Given the description of an element on the screen output the (x, y) to click on. 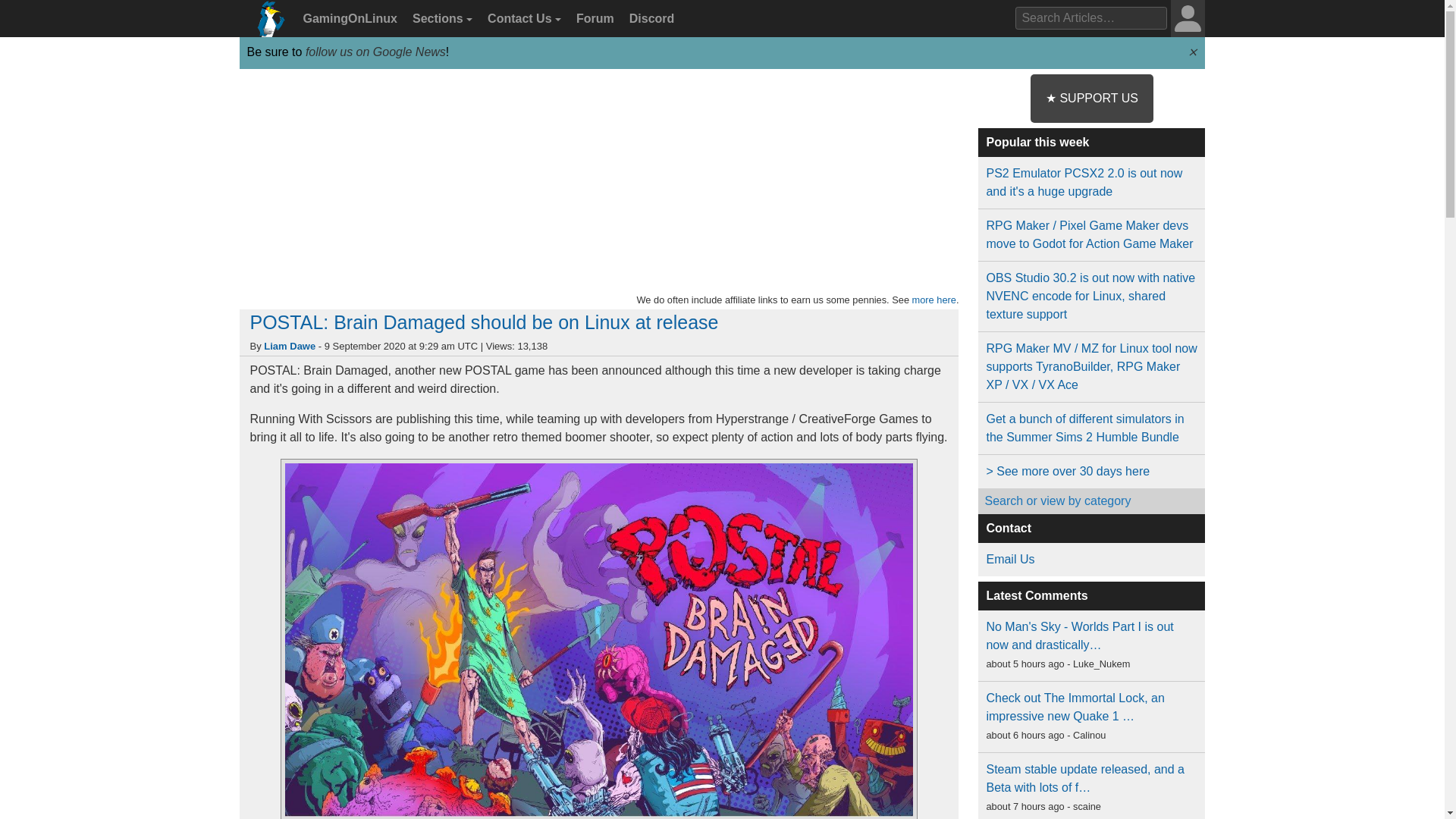
Forum (593, 19)
GamingOnLinux (348, 19)
GamingOnLinux Home (267, 23)
Sections (440, 19)
Discord (649, 19)
follow us on Google News (375, 51)
Contact Us (522, 19)
